Given the description of an element on the screen output the (x, y) to click on. 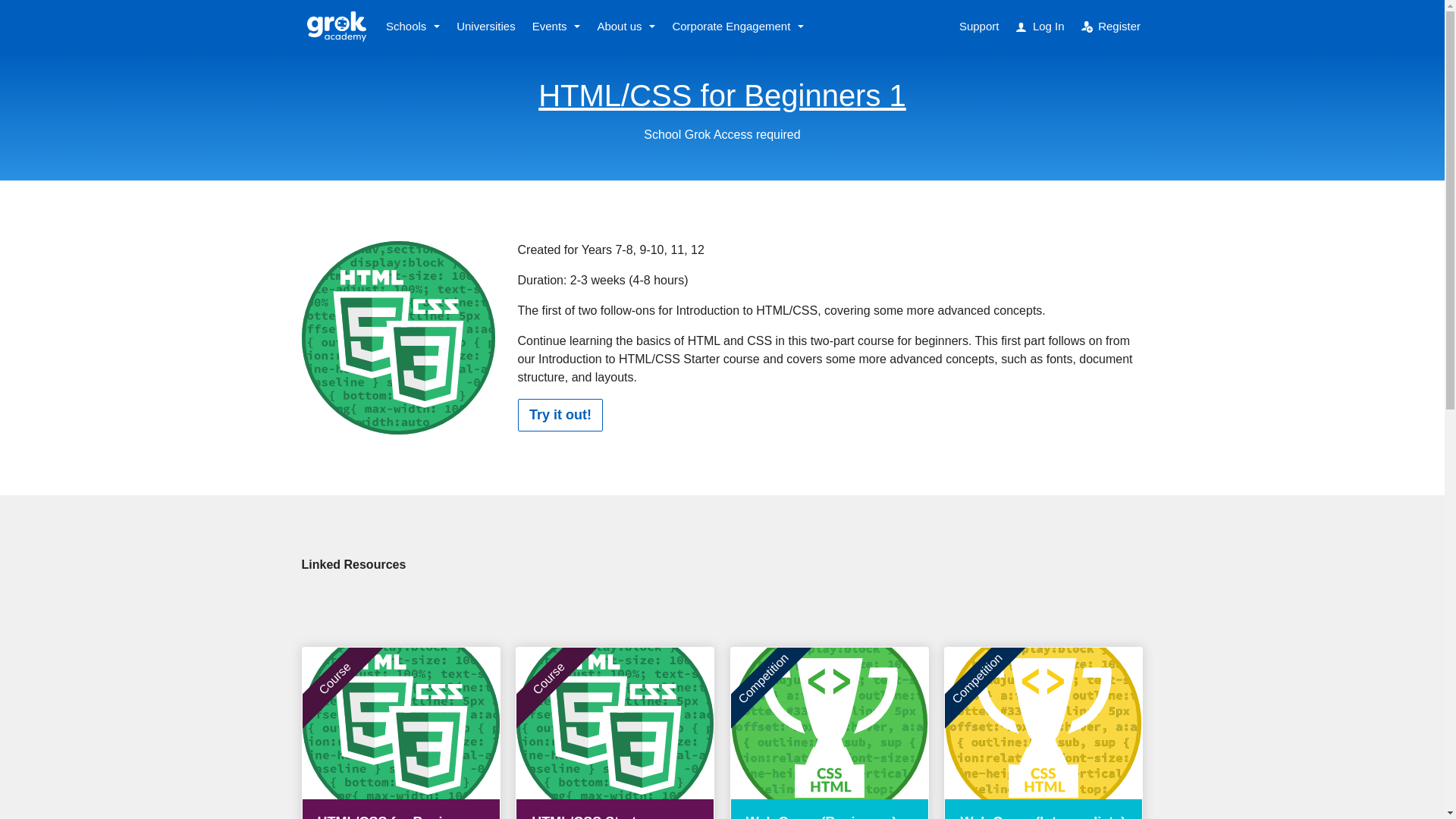
About us (625, 27)
Universities (486, 27)
Schools (412, 27)
Events (556, 27)
Corporate Engagement (737, 27)
